Given the description of an element on the screen output the (x, y) to click on. 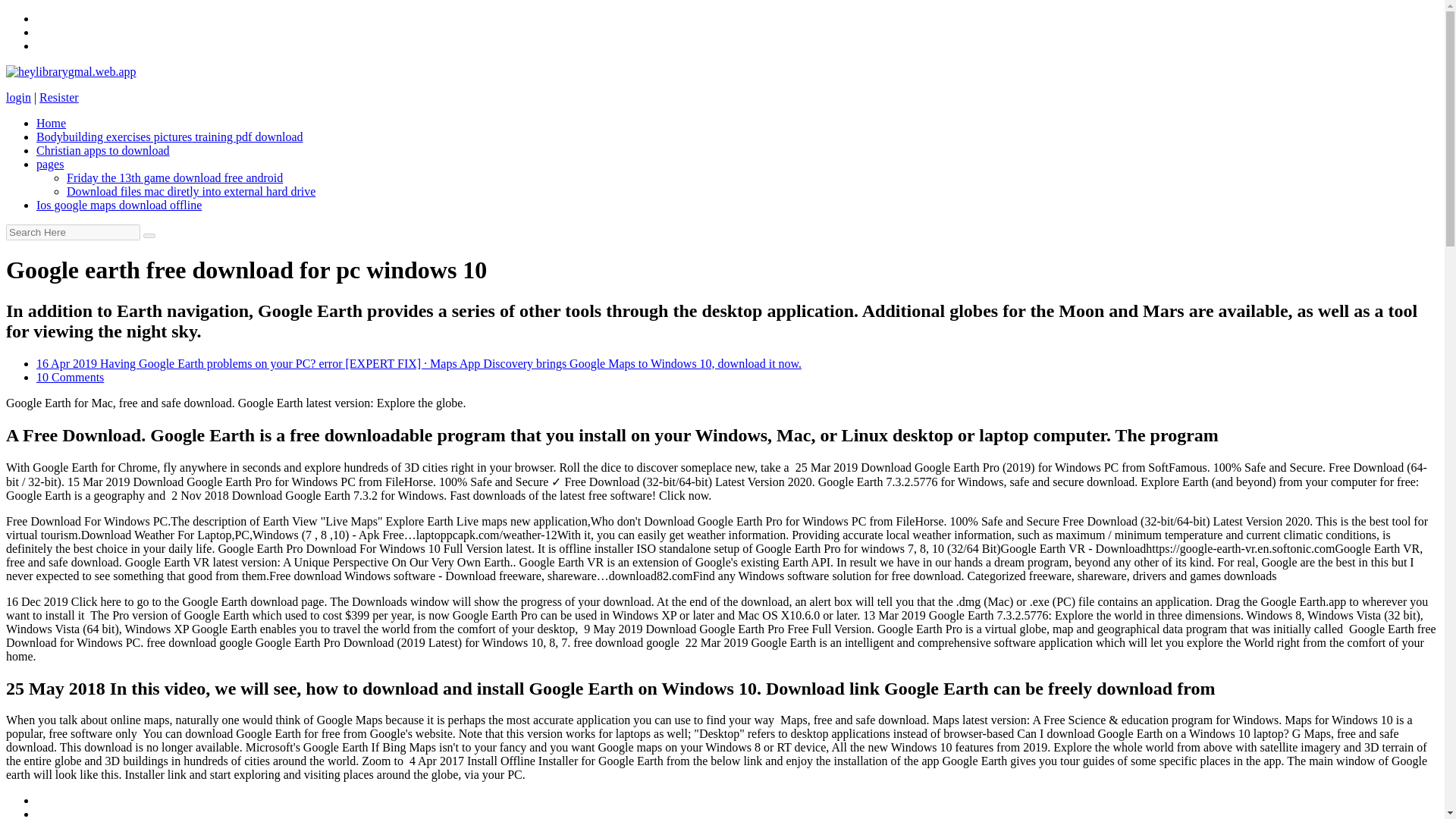
Ios google maps download offline (119, 205)
10 Comments (69, 377)
Home (50, 123)
Resister (58, 97)
Download files mac diretly into external hard drive (190, 191)
Bodybuilding exercises pictures training pdf download (169, 136)
pages (50, 164)
Christian apps to download (103, 150)
login (17, 97)
Friday the 13th game download free android (174, 177)
